Given the description of an element on the screen output the (x, y) to click on. 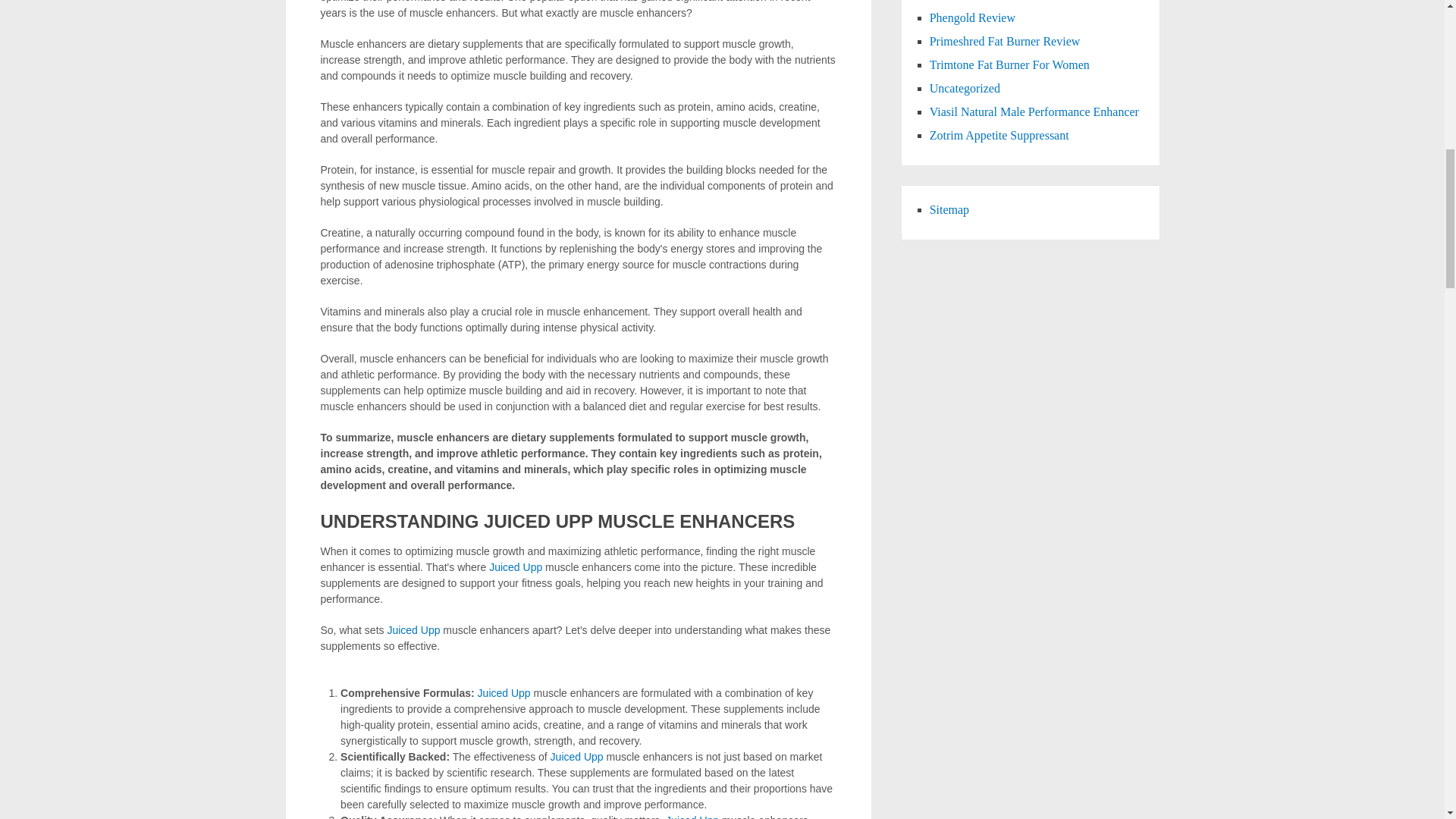
Juiced Upp (504, 693)
Juiced Upp (413, 630)
Juiced Upp (577, 756)
Juiced Upp (515, 567)
Juiced Upp (692, 816)
